Given the description of an element on the screen output the (x, y) to click on. 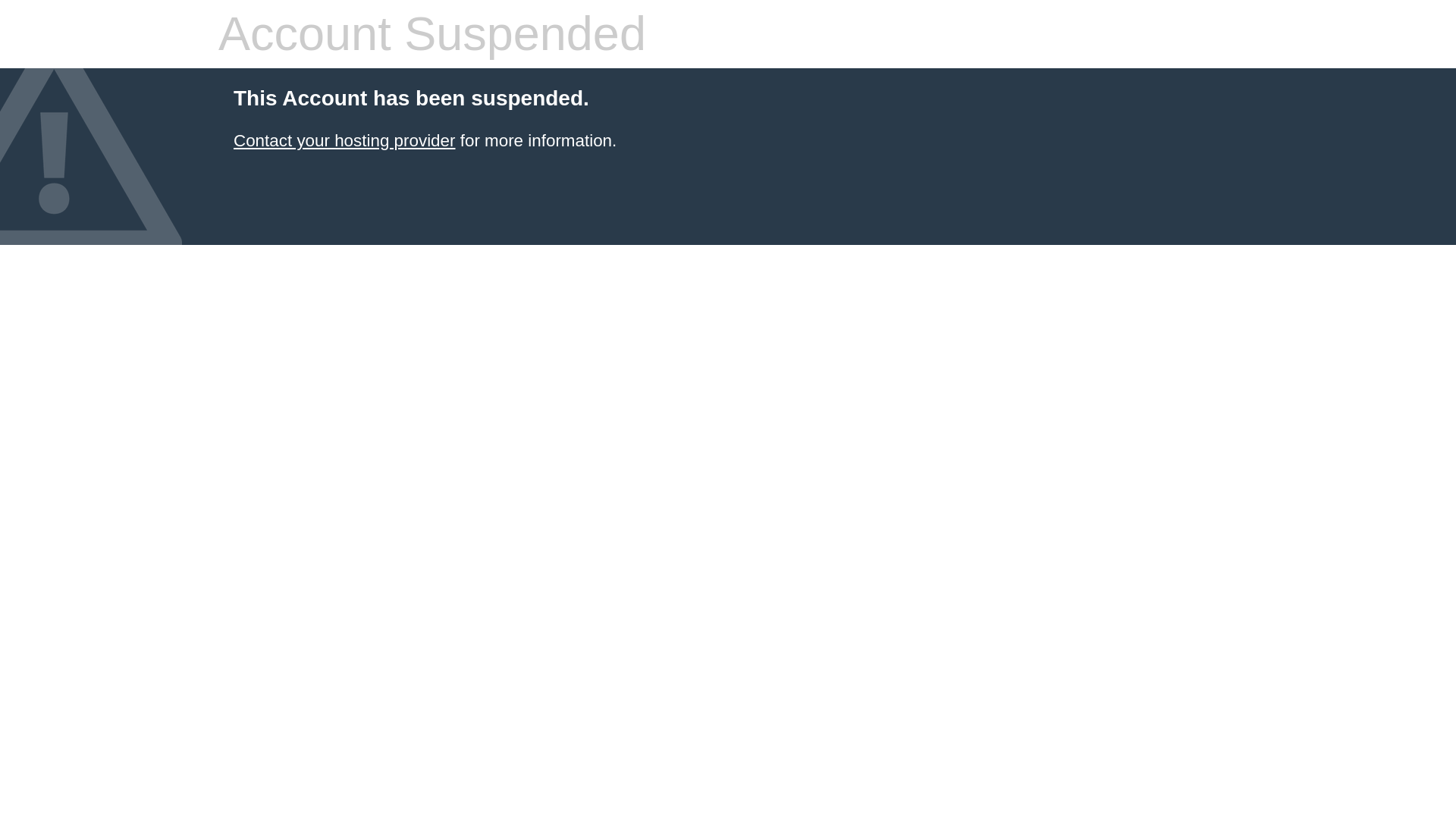
Contact your hosting provider (343, 140)
